Given the description of an element on the screen output the (x, y) to click on. 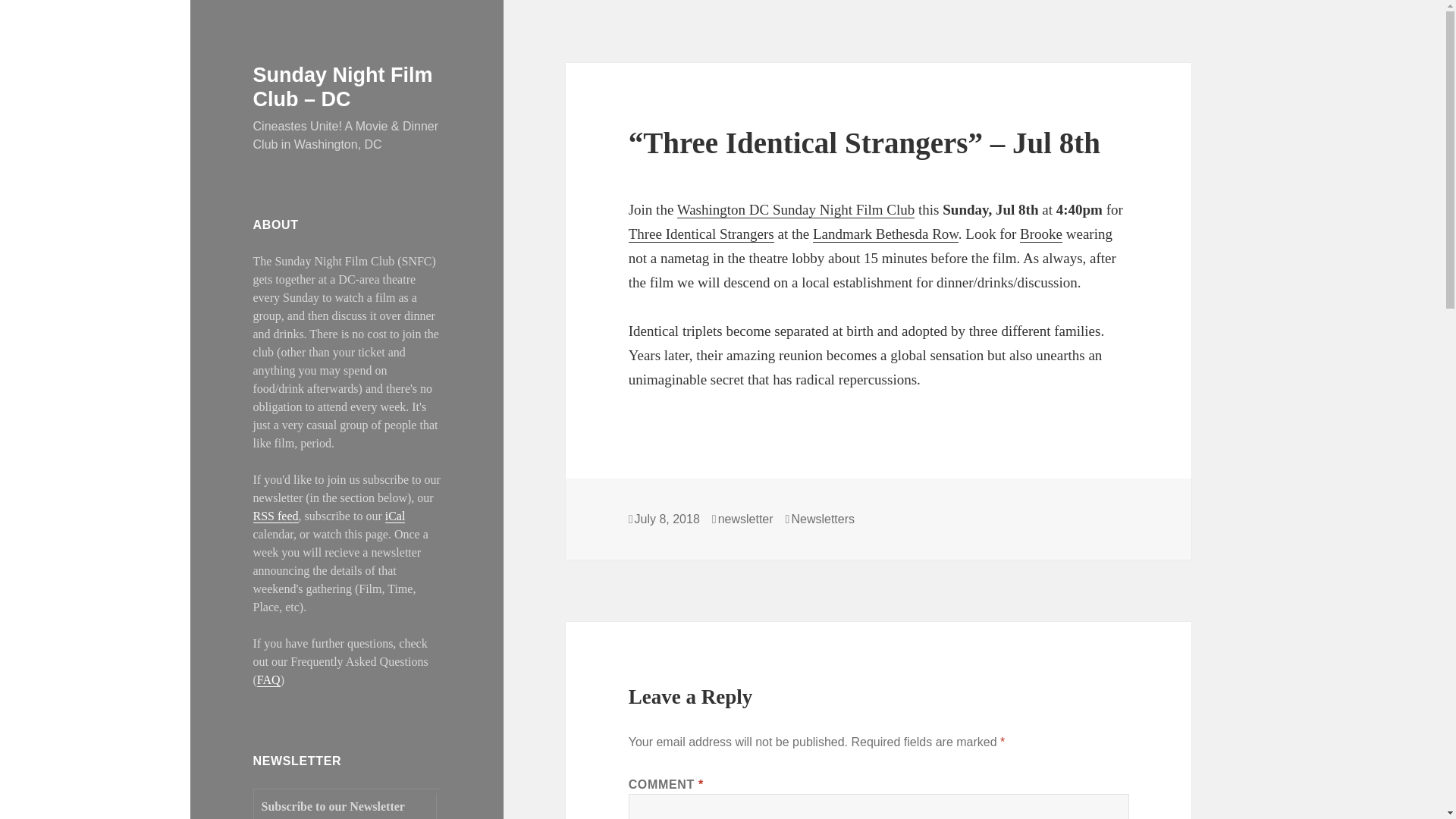
FAQ (269, 680)
newsletter (745, 519)
RSS feed (275, 516)
Brooke (1041, 234)
iCal (395, 516)
Washington DC Sunday Night Film Club (796, 209)
Three Identical Strangers (701, 234)
Landmark Bethesda Row (885, 234)
July 8, 2018 (667, 519)
